Given the description of an element on the screen output the (x, y) to click on. 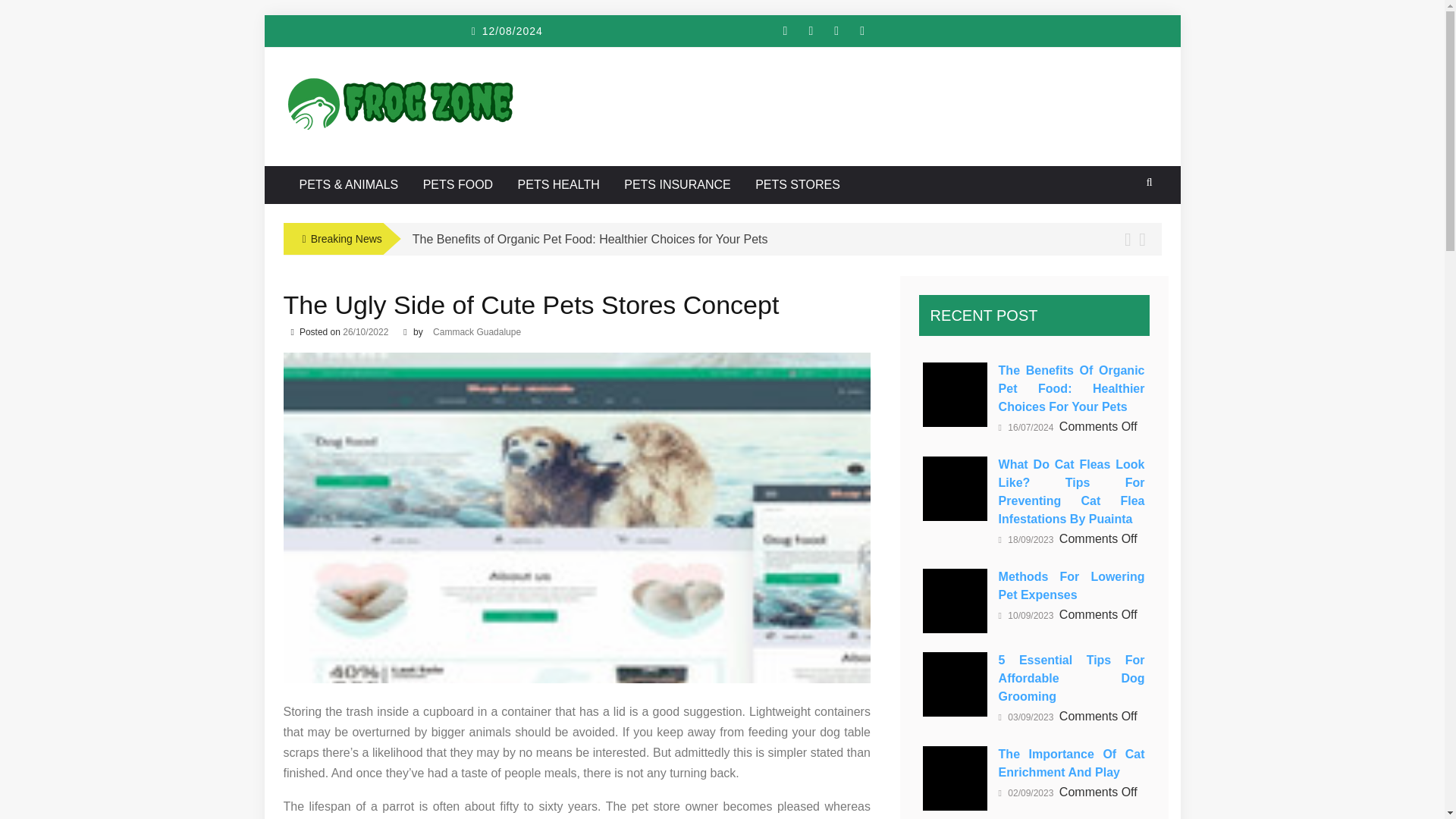
The Importance of Cat Enrichment and Play (955, 778)
Cammack Guadalupe (476, 331)
PETS HEALTH (558, 184)
Methods for Lowering Pet Expenses (955, 600)
PETS FOOD (457, 184)
PETS INSURANCE (676, 184)
